Given the description of an element on the screen output the (x, y) to click on. 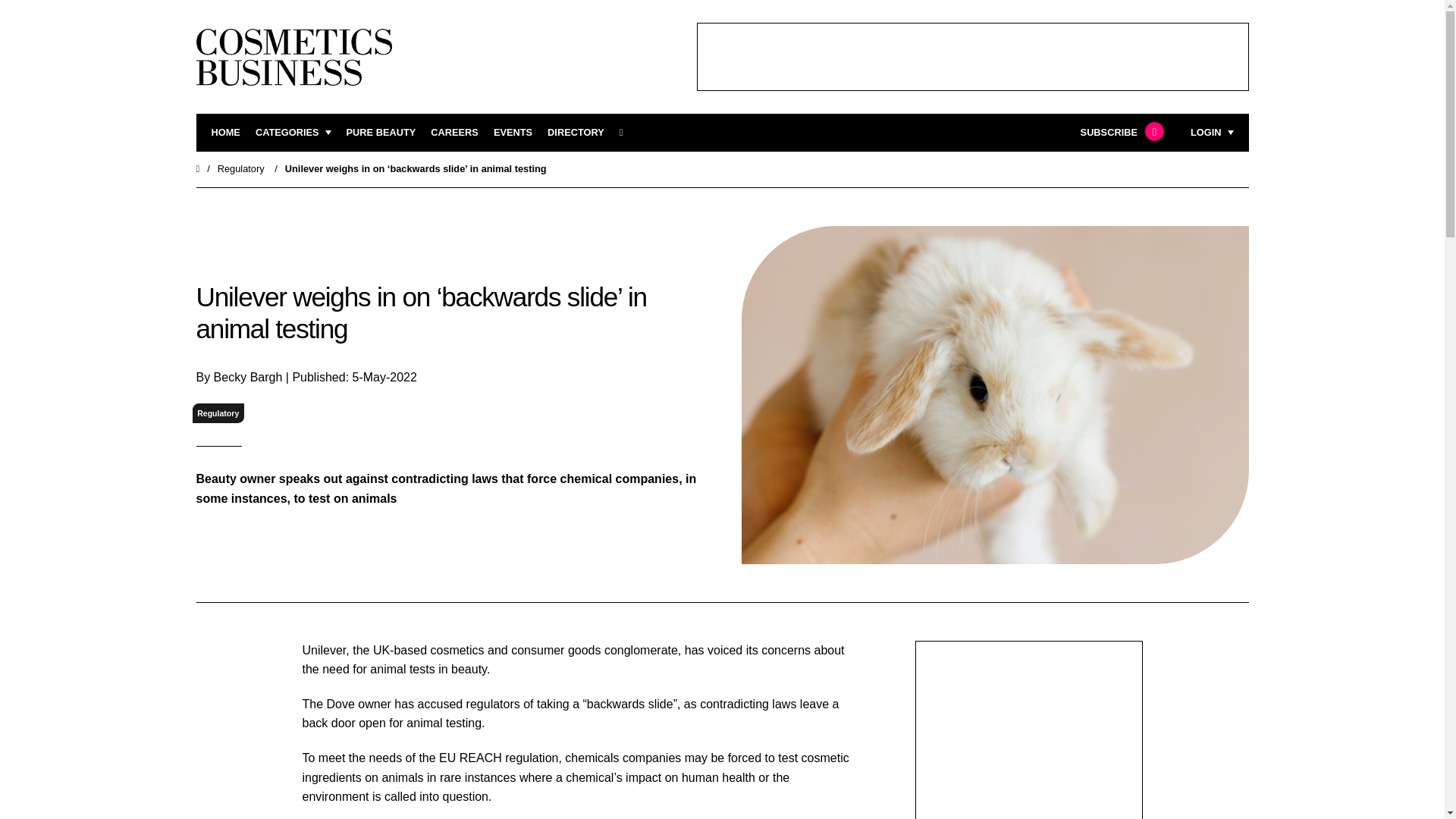
DIRECTORY (575, 133)
HOME (225, 133)
Directory (575, 133)
Pure Beauty (381, 133)
CATEGORIES (293, 133)
Regulatory (240, 168)
SEARCH (626, 133)
SUBSCRIBE (1120, 133)
EVENTS (512, 133)
Sign In (1134, 321)
